Given the description of an element on the screen output the (x, y) to click on. 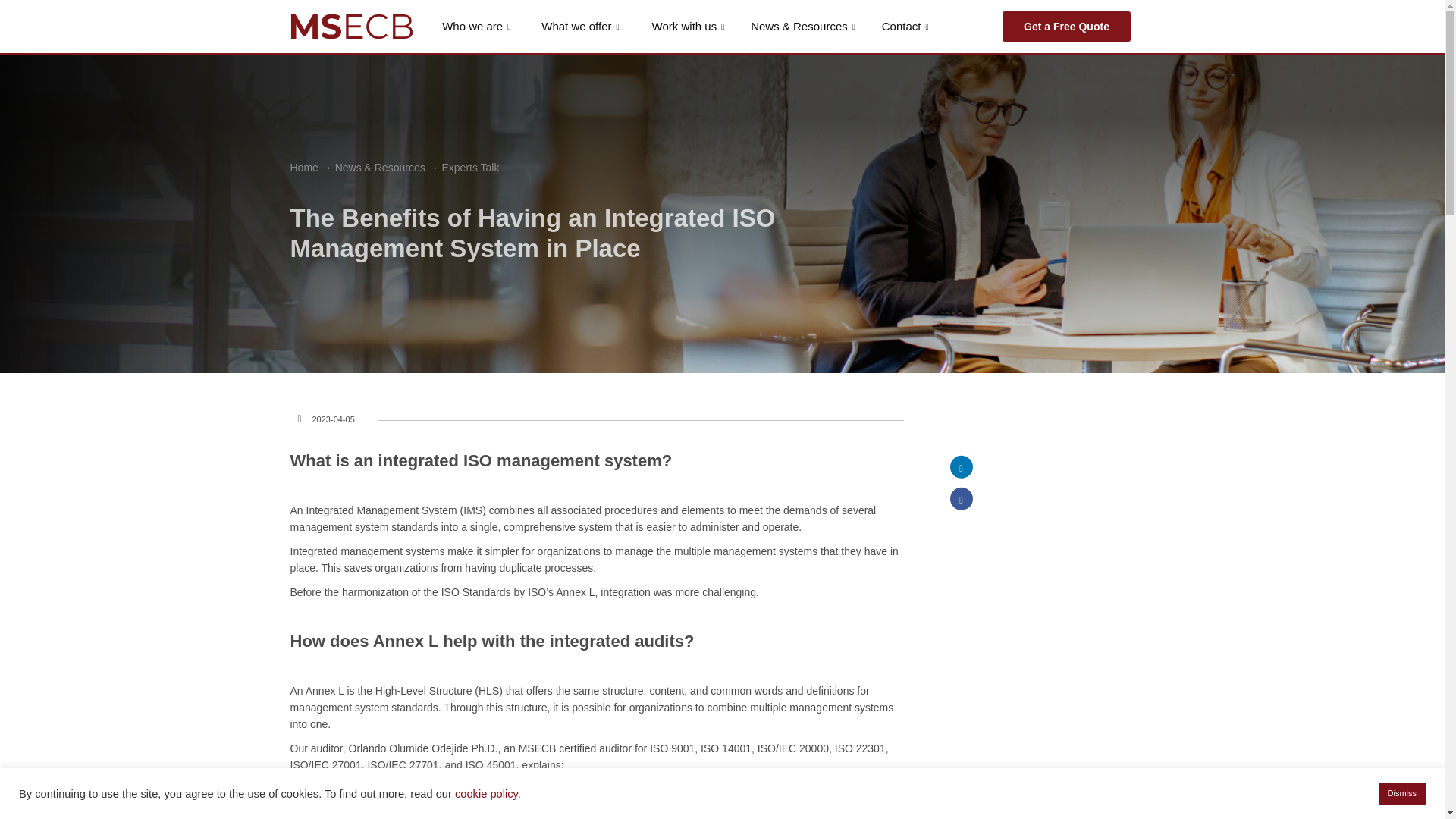
MSECB (351, 26)
